Given the description of an element on the screen output the (x, y) to click on. 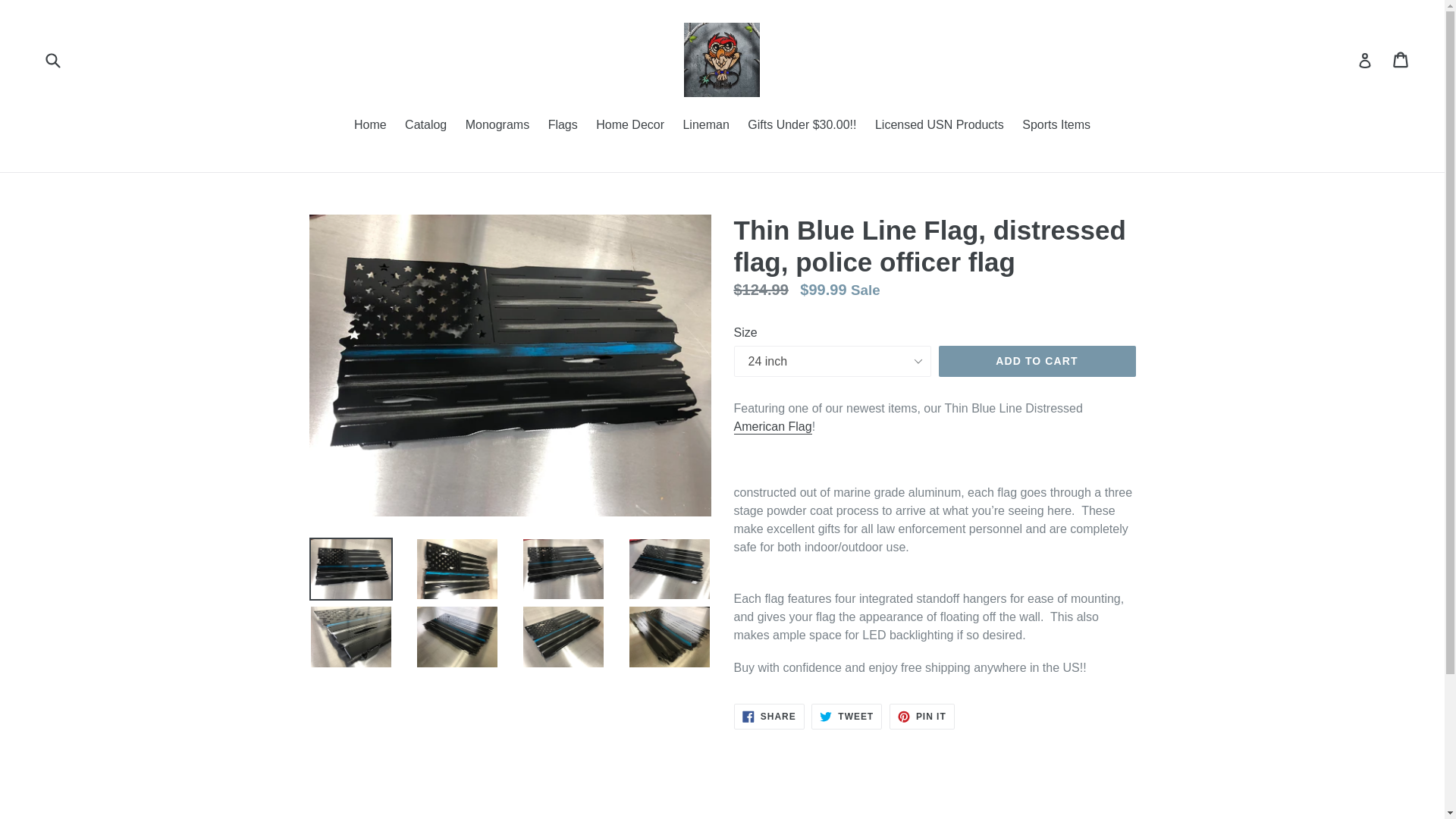
thin blue line flag, distressed flag, leo flag (772, 427)
Catalog (425, 126)
Licensed USN Products (939, 126)
Monograms (497, 126)
American Flag (772, 427)
Sports Items (1055, 126)
Home (370, 126)
Lineman (705, 126)
Flags (562, 126)
ADD TO CART (1037, 361)
